Given the description of an element on the screen output the (x, y) to click on. 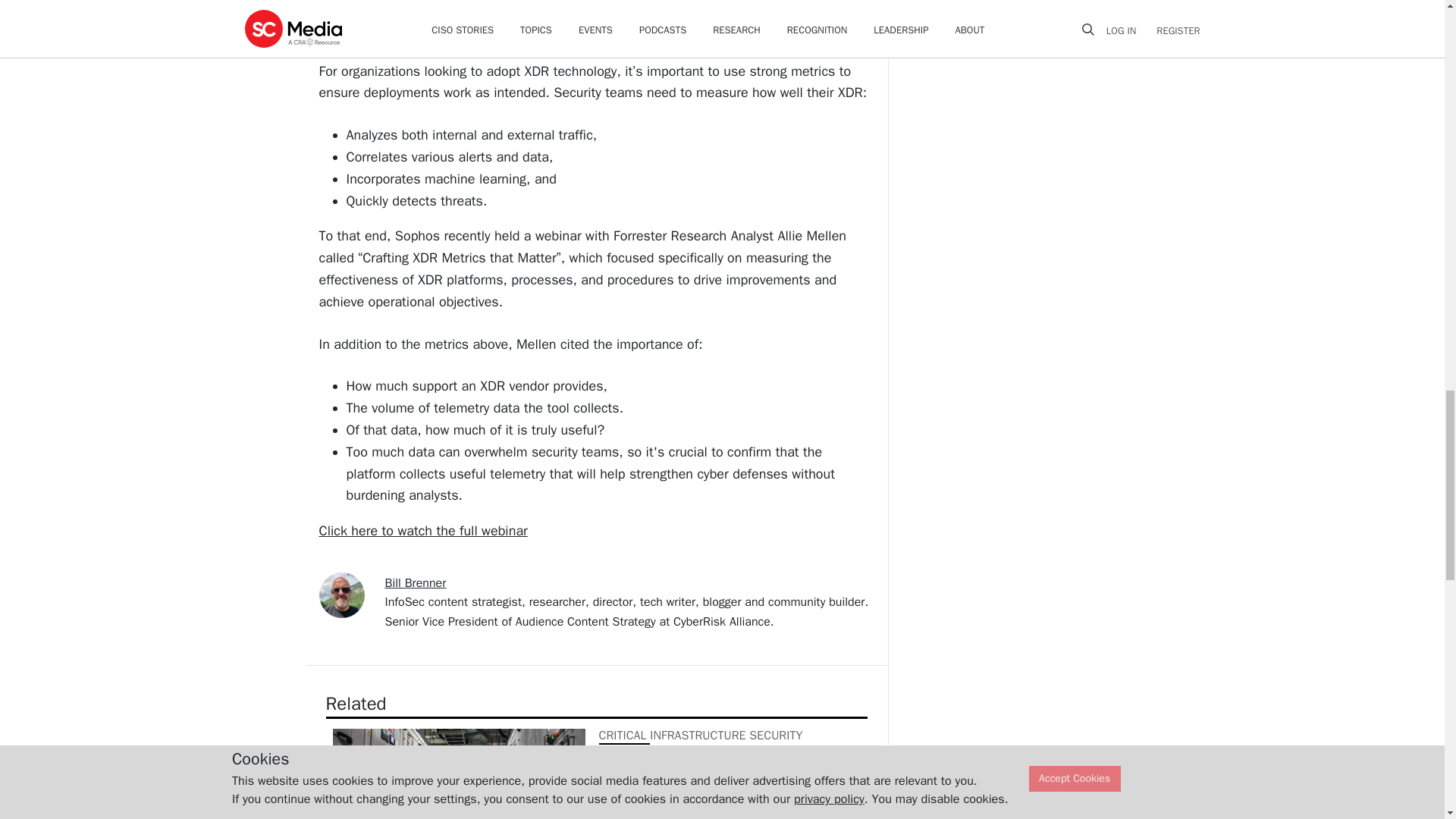
Steve Zurier (622, 808)
CRITICAL INFRASTRUCTURE SECURITY (700, 735)
3rd party ad content (1012, 151)
Bill Brenner (415, 582)
Click here to watch the full webinar (422, 530)
